Given the description of an element on the screen output the (x, y) to click on. 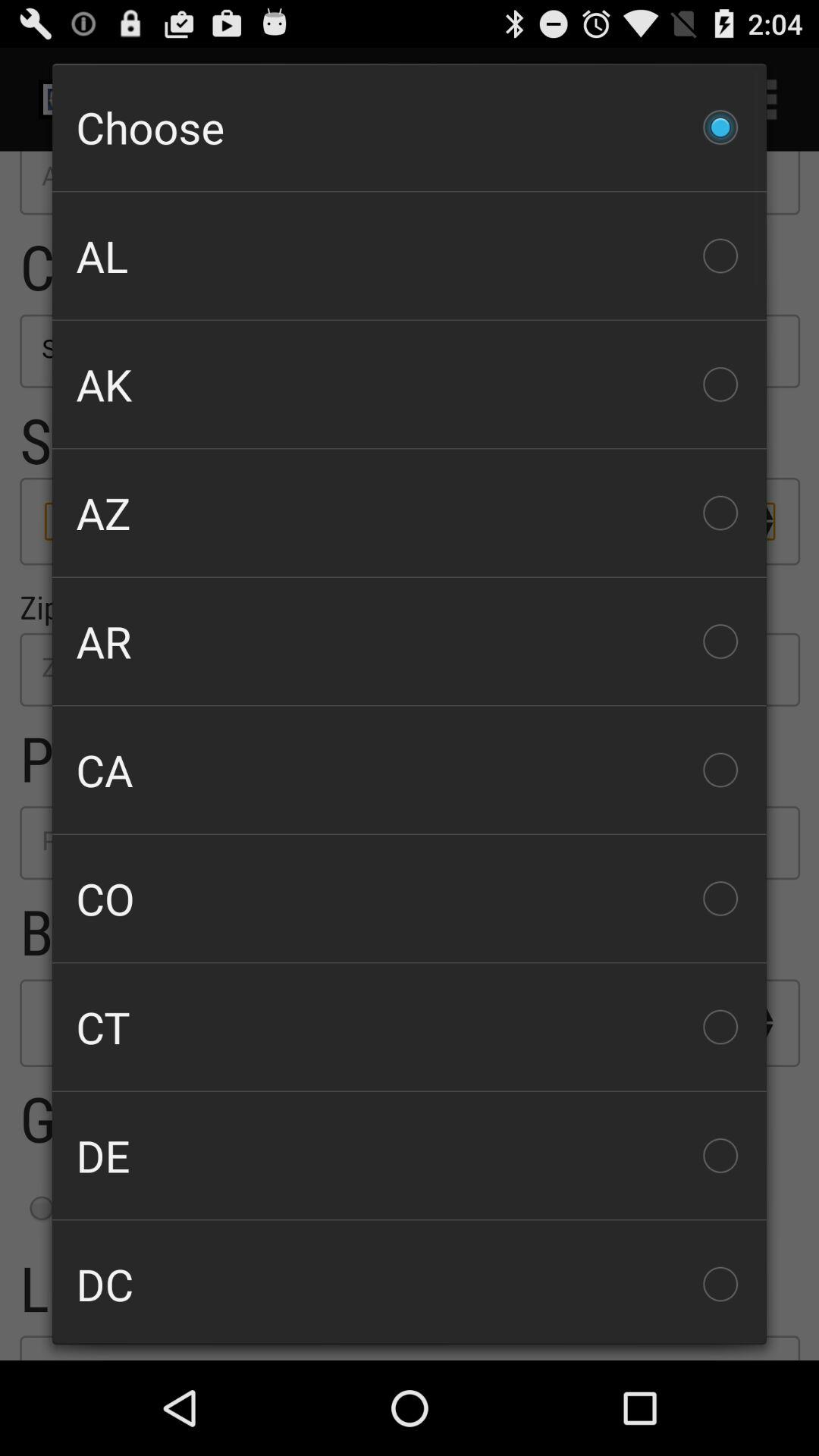
jump until ct checkbox (409, 1026)
